Given the description of an element on the screen output the (x, y) to click on. 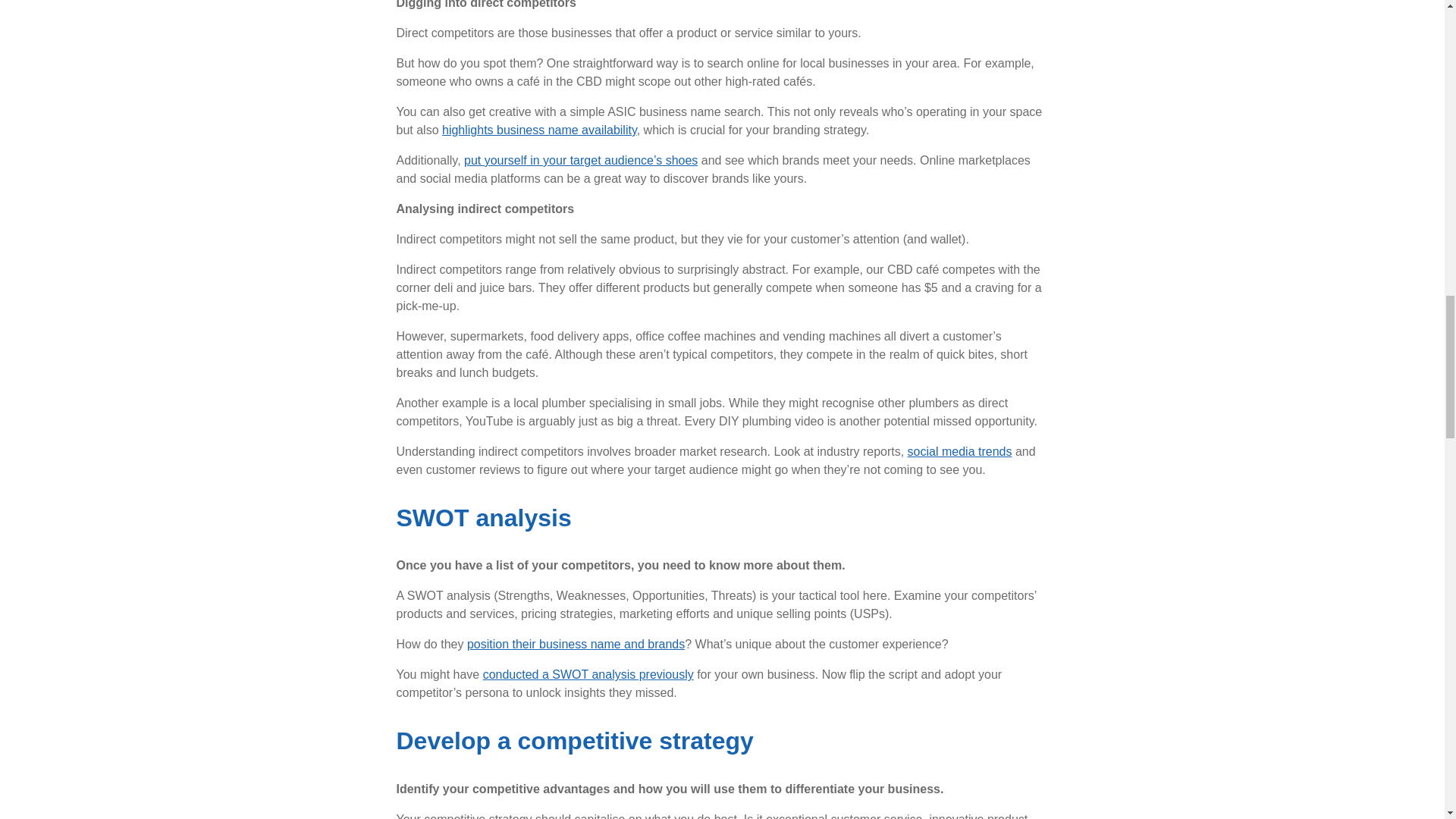
position their business name and brands (575, 644)
conducted a SWOT analysis previously (588, 674)
social media trends (959, 451)
highlights business name availability (539, 129)
